Given the description of an element on the screen output the (x, y) to click on. 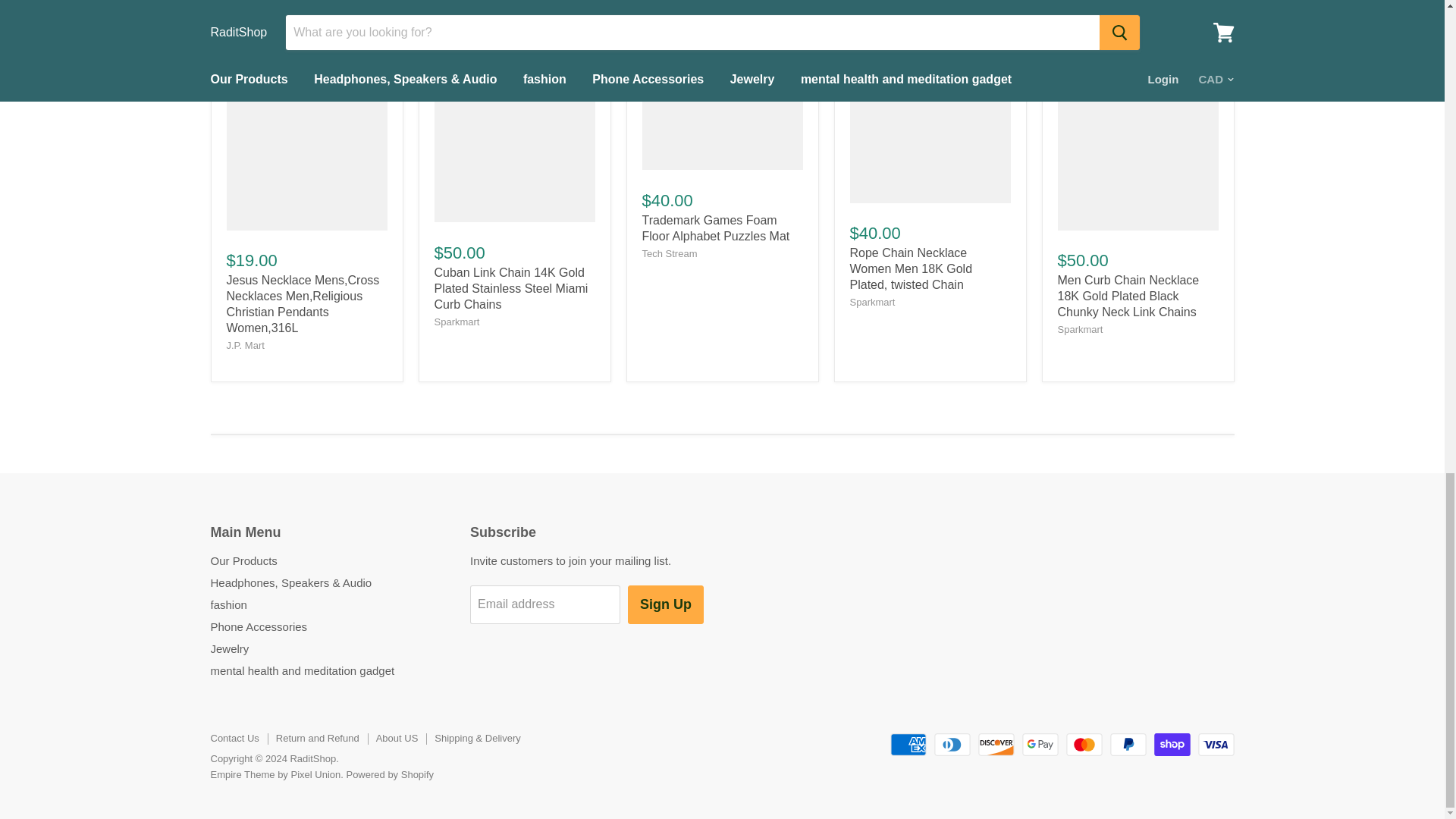
Visa (1216, 744)
American Express (907, 744)
Mastercard (1083, 744)
Google Pay (1040, 744)
PayPal (1128, 744)
Discover (996, 744)
Shop Pay (1172, 744)
Diners Club (952, 744)
